Given the description of an element on the screen output the (x, y) to click on. 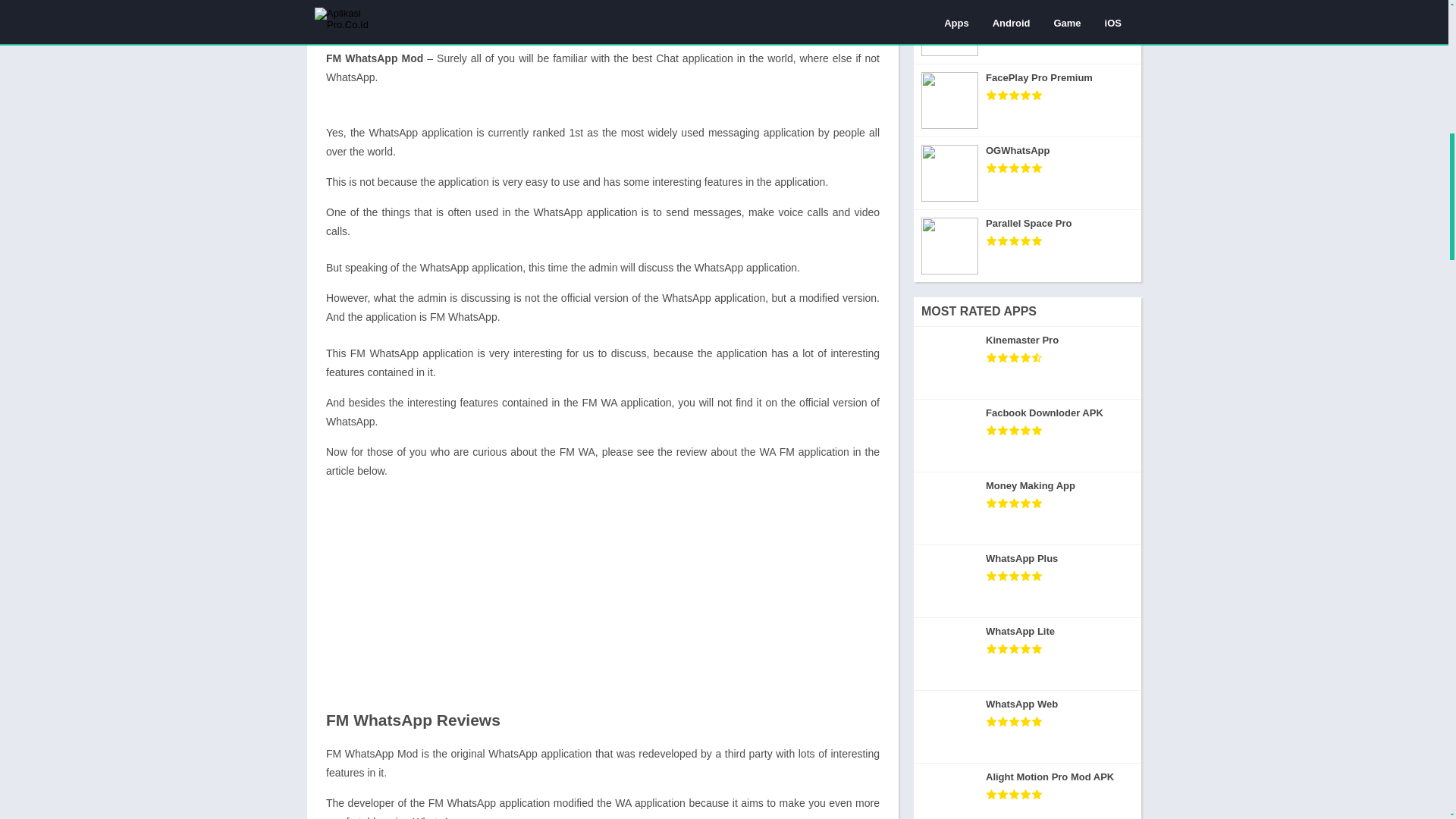
X8 Speeder APK (1027, 32)
Advertisement (602, 598)
Parallel Space Pro (1027, 245)
FacePlay Pro Premium (1027, 100)
OGWhatsApp (1027, 173)
